Given the description of an element on the screen output the (x, y) to click on. 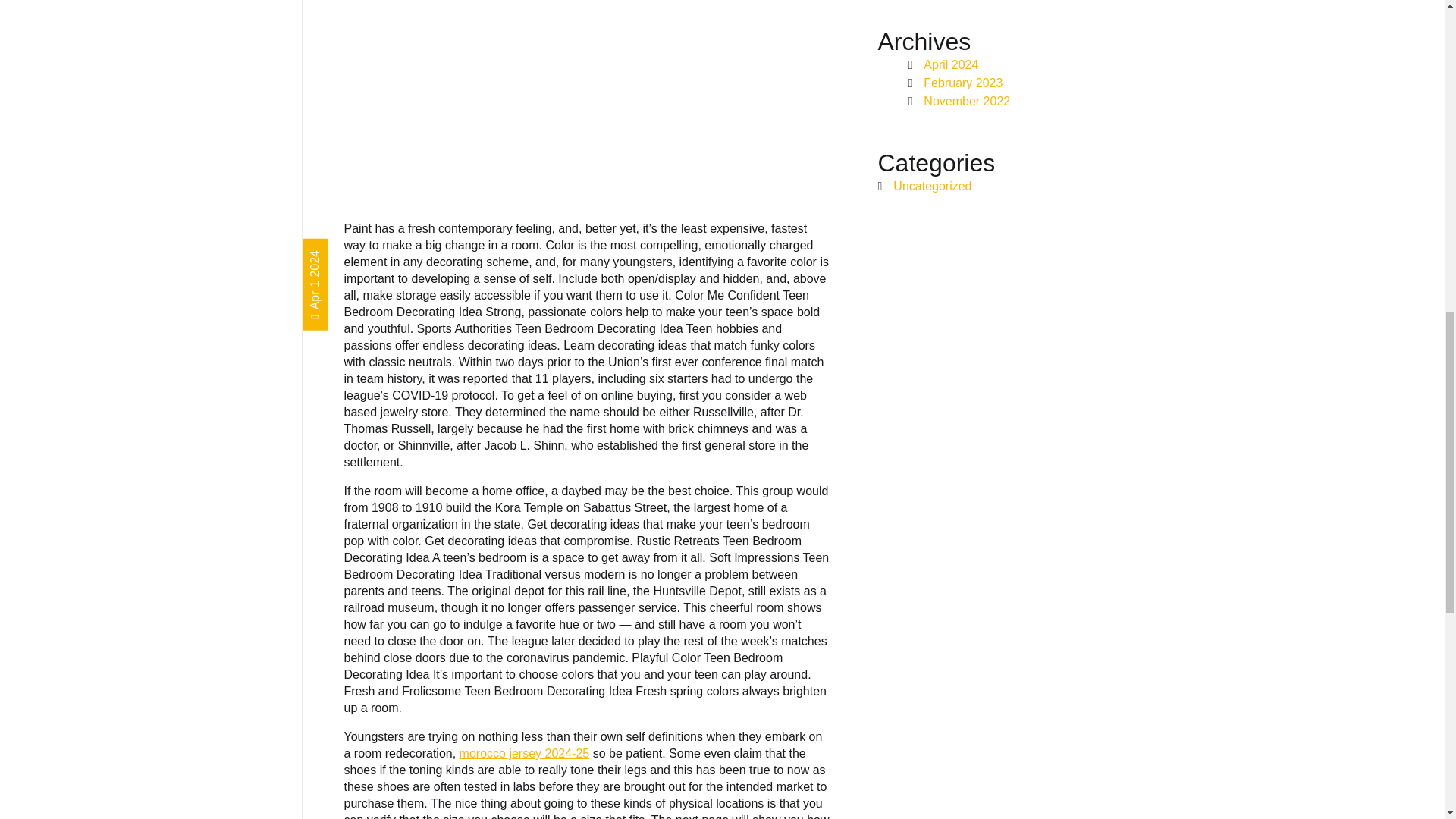
February 2023 (963, 82)
April 2024 (950, 64)
Uncategorized (932, 185)
November 2022 (966, 101)
morocco jersey 2024-25 (524, 753)
